Given the description of an element on the screen output the (x, y) to click on. 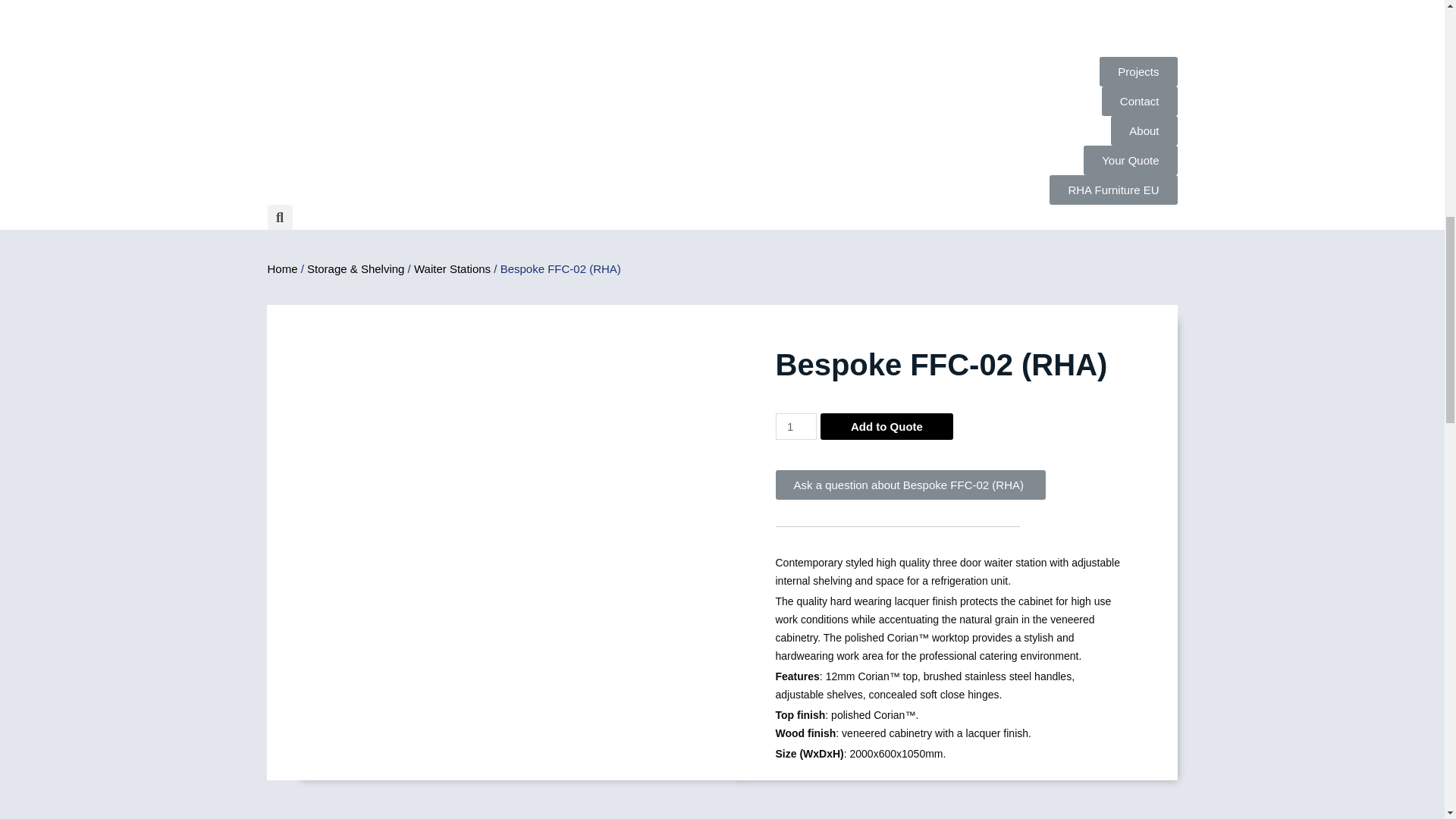
Your Quote (1129, 160)
Contact (1139, 101)
Hotel (494, 28)
About (1143, 130)
Qty (794, 426)
Projects (1137, 71)
RHA Furniture EU (1112, 189)
1 (794, 426)
